Given the description of an element on the screen output the (x, y) to click on. 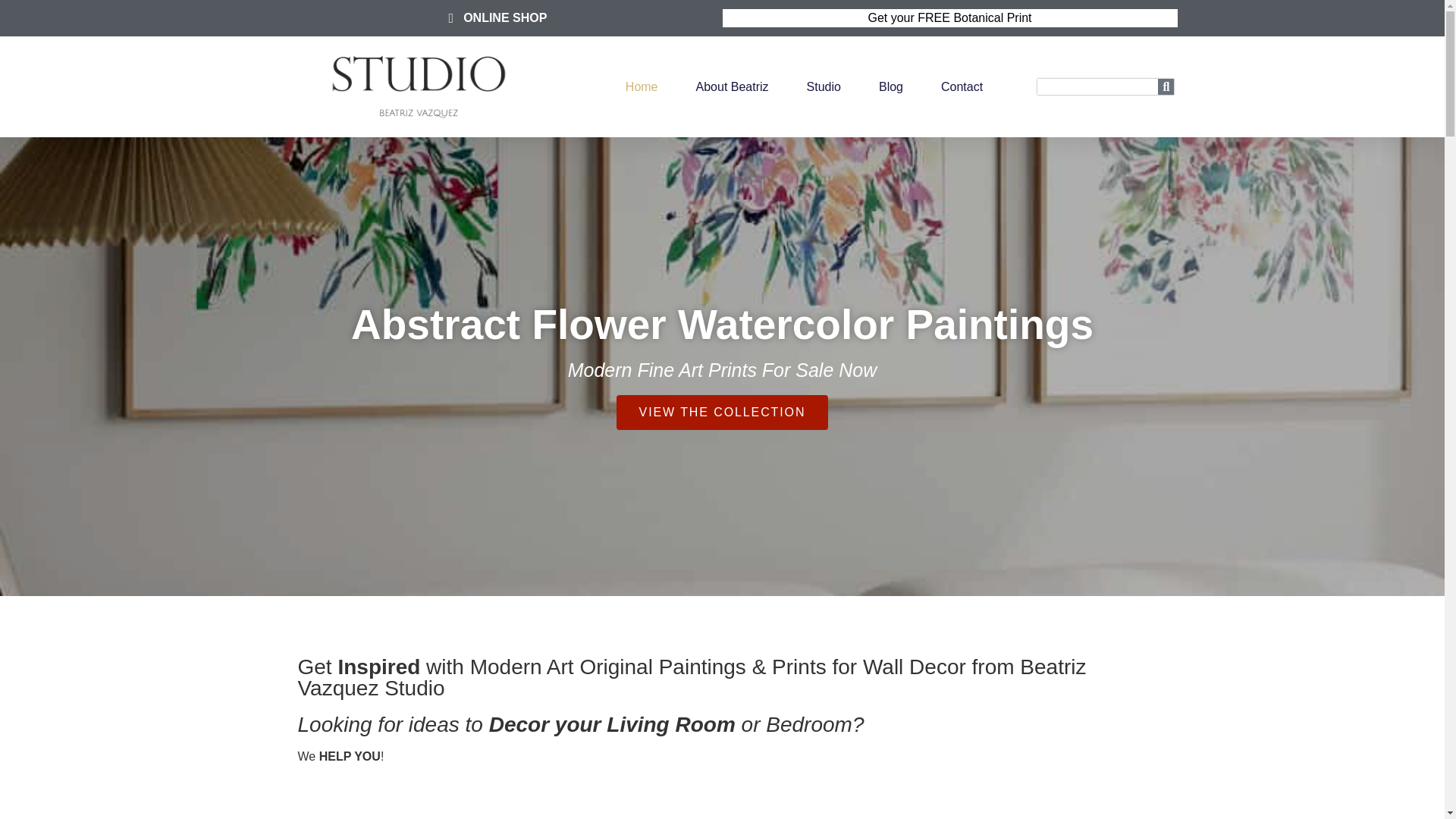
Home (642, 86)
VIEW THE COLLECTION (721, 411)
About Beatriz (731, 86)
Get your FREE Botanical Print (948, 18)
Studio (823, 86)
Contact (961, 86)
ONLINE SHOP (494, 18)
